Given the description of an element on the screen output the (x, y) to click on. 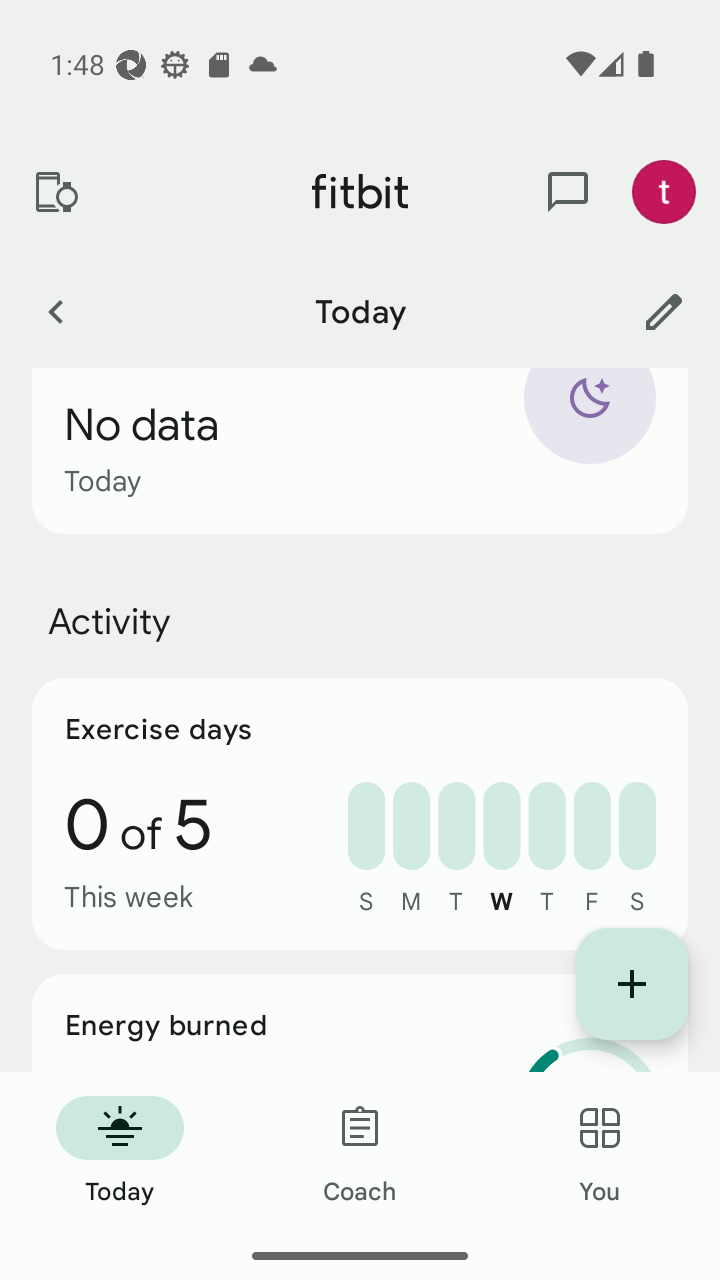
Devices and apps (55, 191)
messages and notifications (567, 191)
Previous Day (55, 311)
Customize (664, 311)
No data Today Sleep static arc (359, 450)
Exercise days 0 of 5 This week (359, 813)
Display list of quick log entries (632, 983)
Energy burned (359, 1023)
Coach (359, 1151)
You (600, 1151)
